Given the description of an element on the screen output the (x, y) to click on. 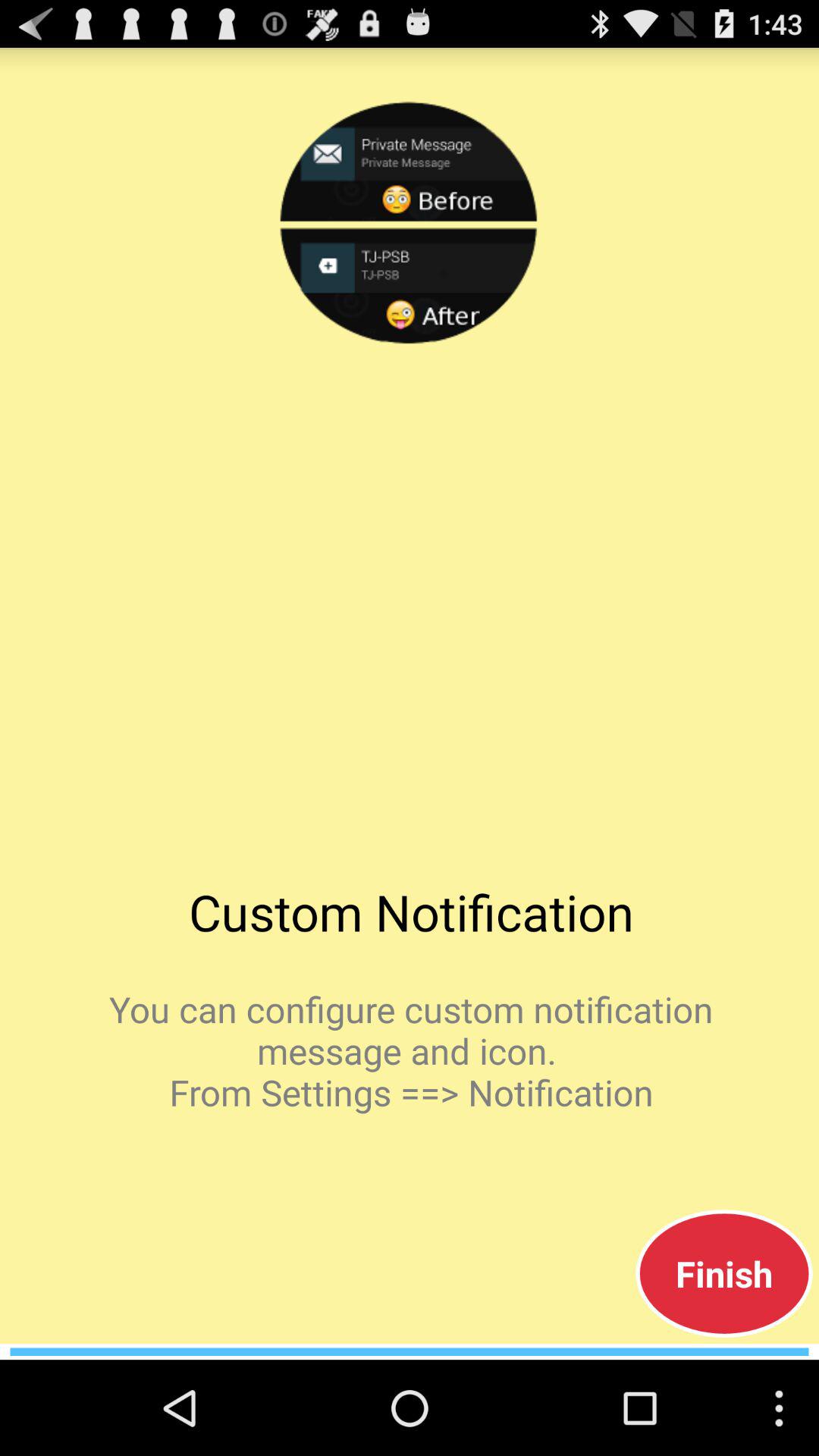
launch the finish button (723, 1273)
